Given the description of an element on the screen output the (x, y) to click on. 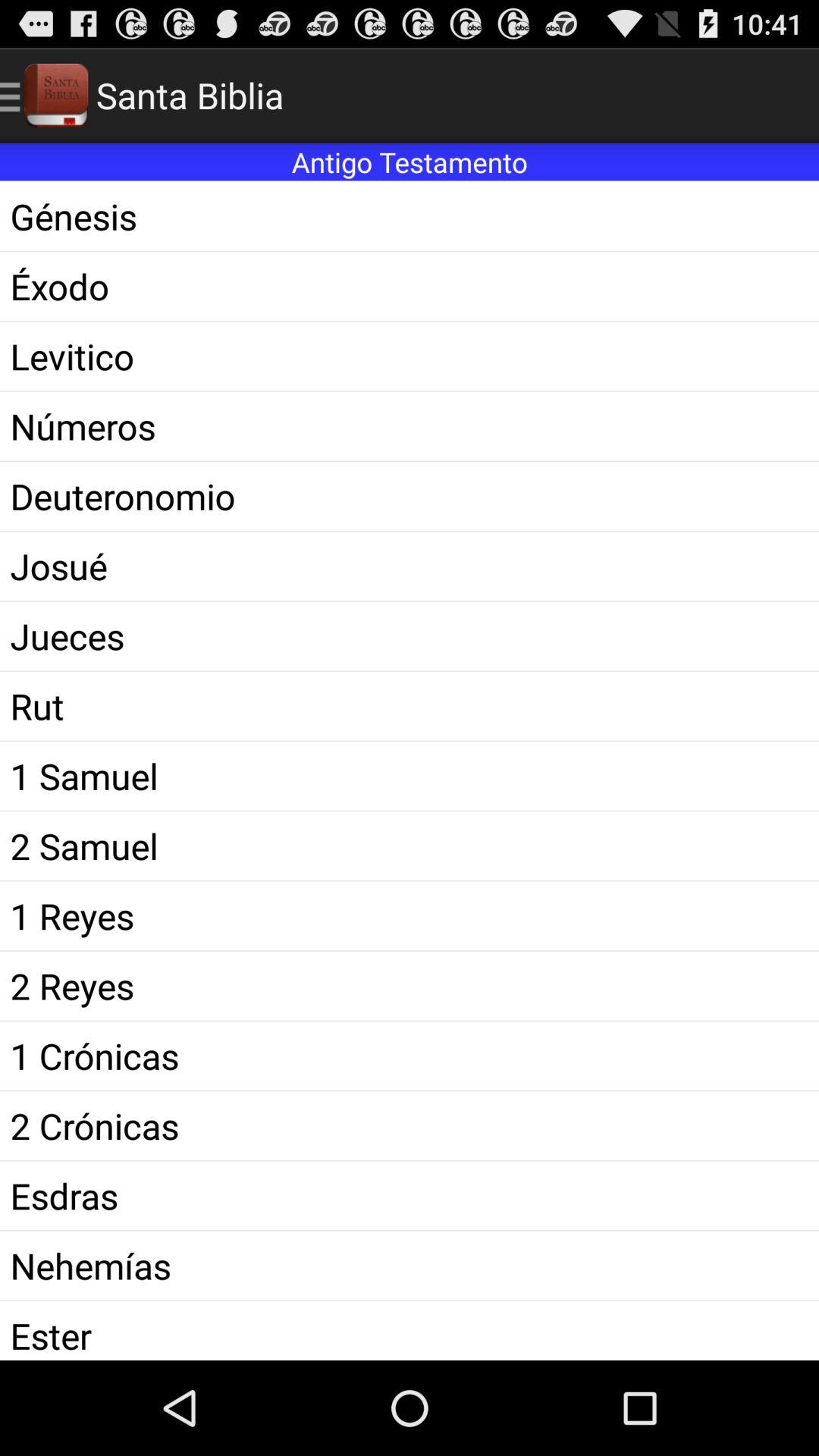
tap the item above the deuteronomio icon (409, 425)
